Given the description of an element on the screen output the (x, y) to click on. 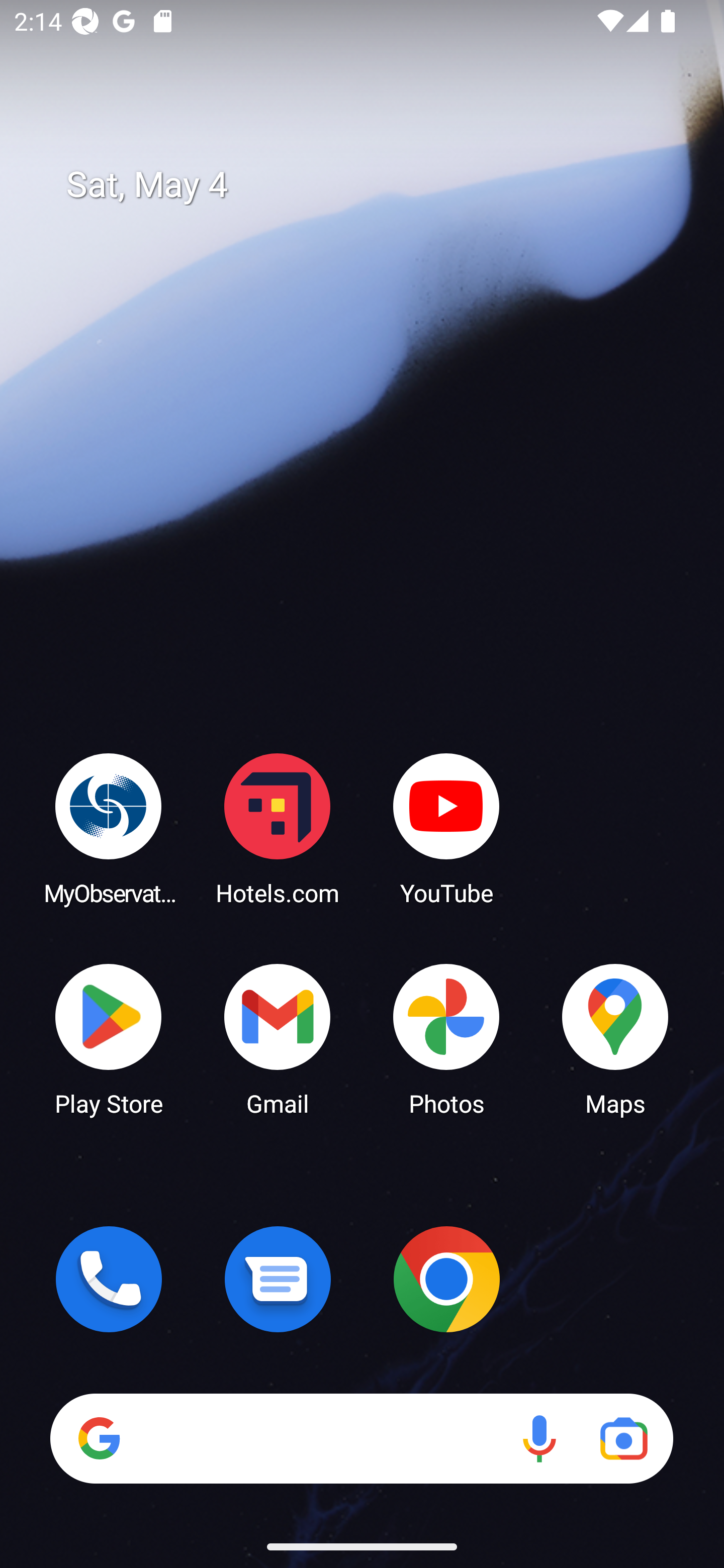
Sat, May 4 (375, 184)
MyObservatory (108, 828)
Hotels.com (277, 828)
YouTube (445, 828)
Play Store (108, 1038)
Gmail (277, 1038)
Photos (445, 1038)
Maps (615, 1038)
Phone (108, 1279)
Messages (277, 1279)
Chrome (446, 1279)
Search Voice search Google Lens (361, 1438)
Voice search (539, 1438)
Google Lens (623, 1438)
